Given the description of an element on the screen output the (x, y) to click on. 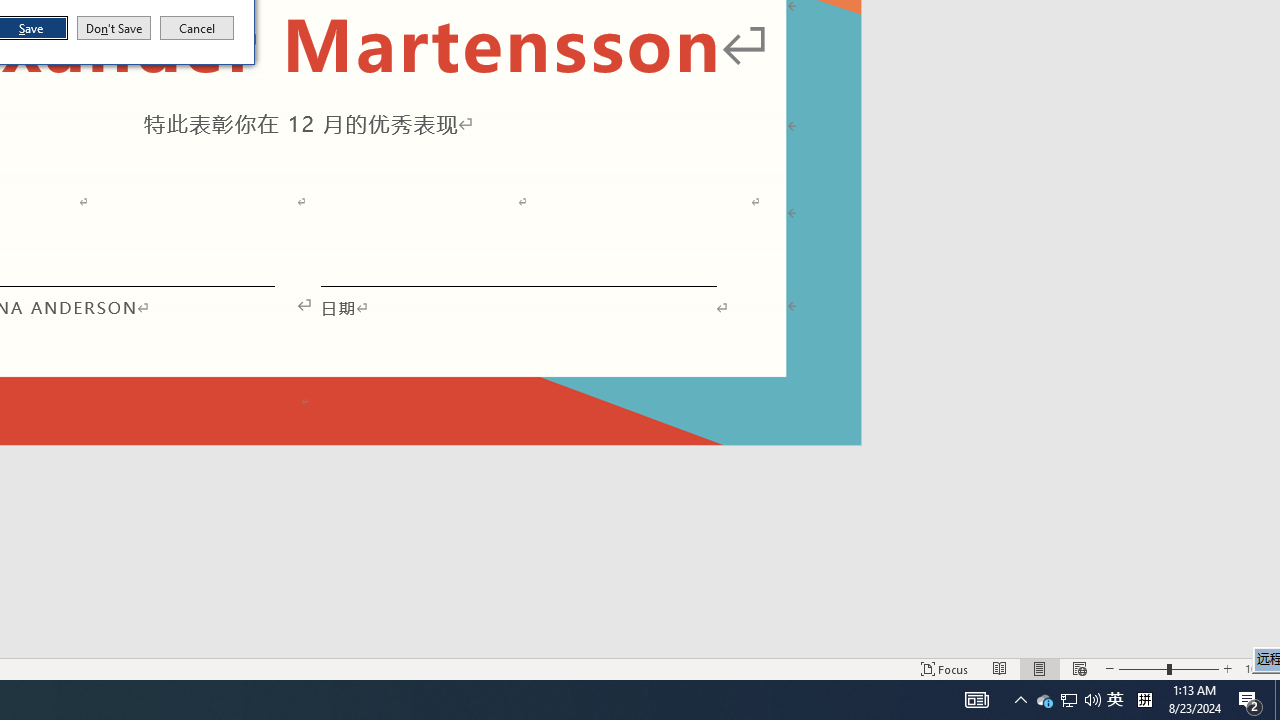
User Promoted Notification Area (1068, 699)
Show desktop (1044, 699)
Tray Input Indicator - Chinese (Simplified, China) (1277, 699)
Cancel (1069, 699)
Zoom (1144, 699)
Action Center, 2 new notifications (197, 27)
Zoom 100% (1115, 699)
Web Layout (1168, 668)
Notification Chevron (1250, 699)
Focus  (1258, 668)
